Given the description of an element on the screen output the (x, y) to click on. 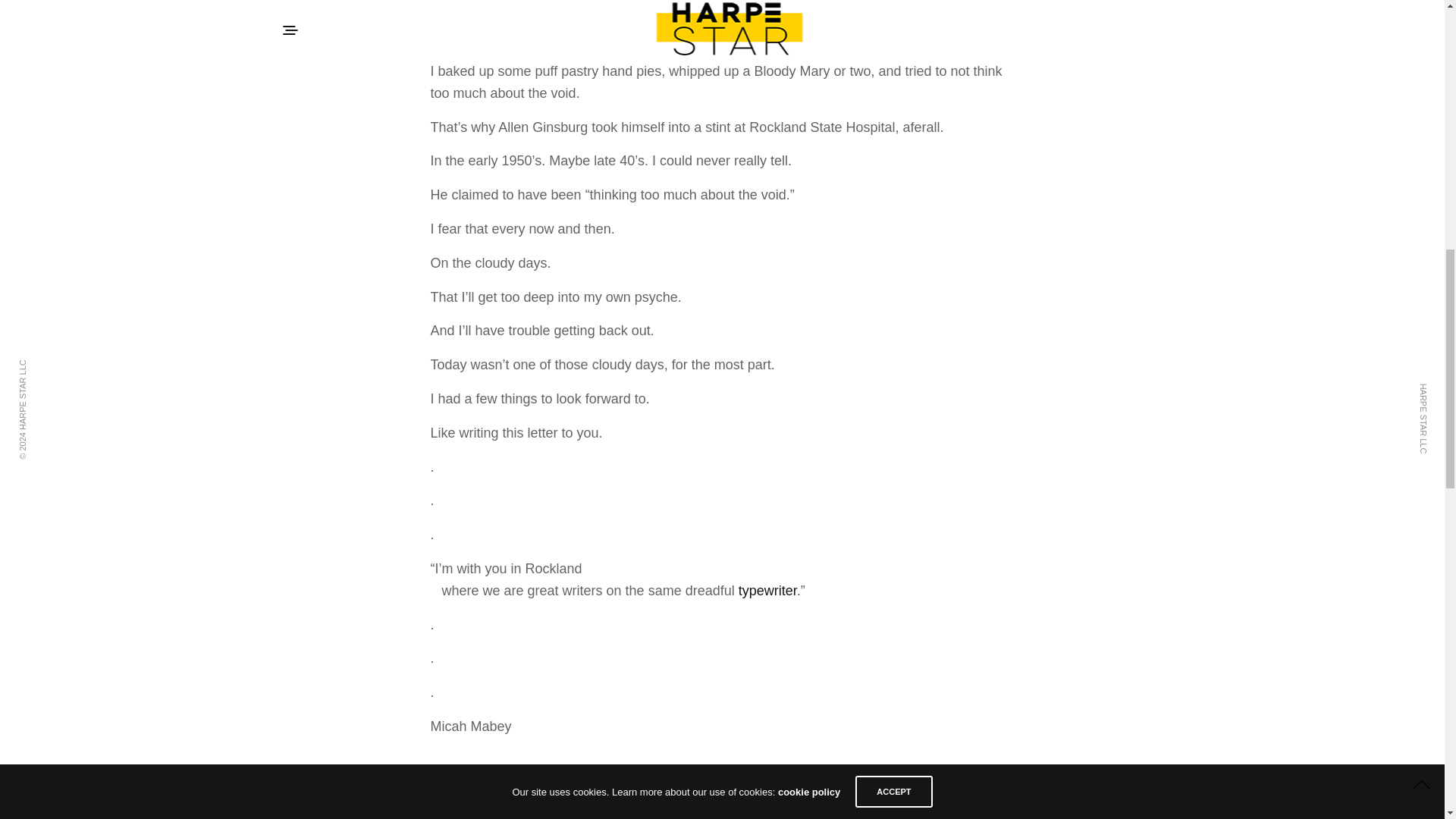
ROCKLAND (828, 778)
typewriter (767, 590)
ALLEN GINSBERG (624, 778)
BLOG (704, 778)
HOWL (761, 778)
